Given the description of an element on the screen output the (x, y) to click on. 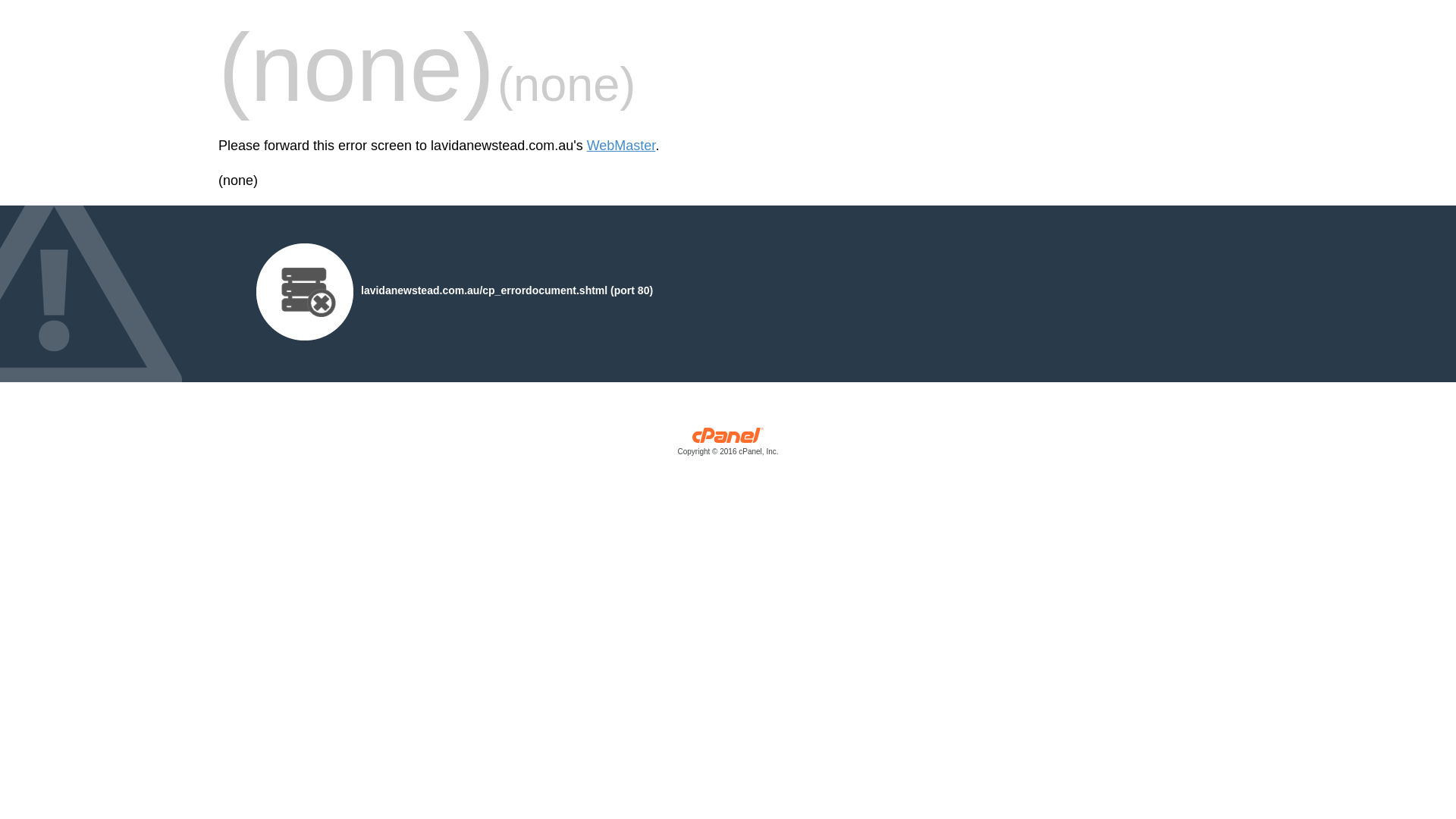
WebMaster Element type: text (620, 145)
